Given the description of an element on the screen output the (x, y) to click on. 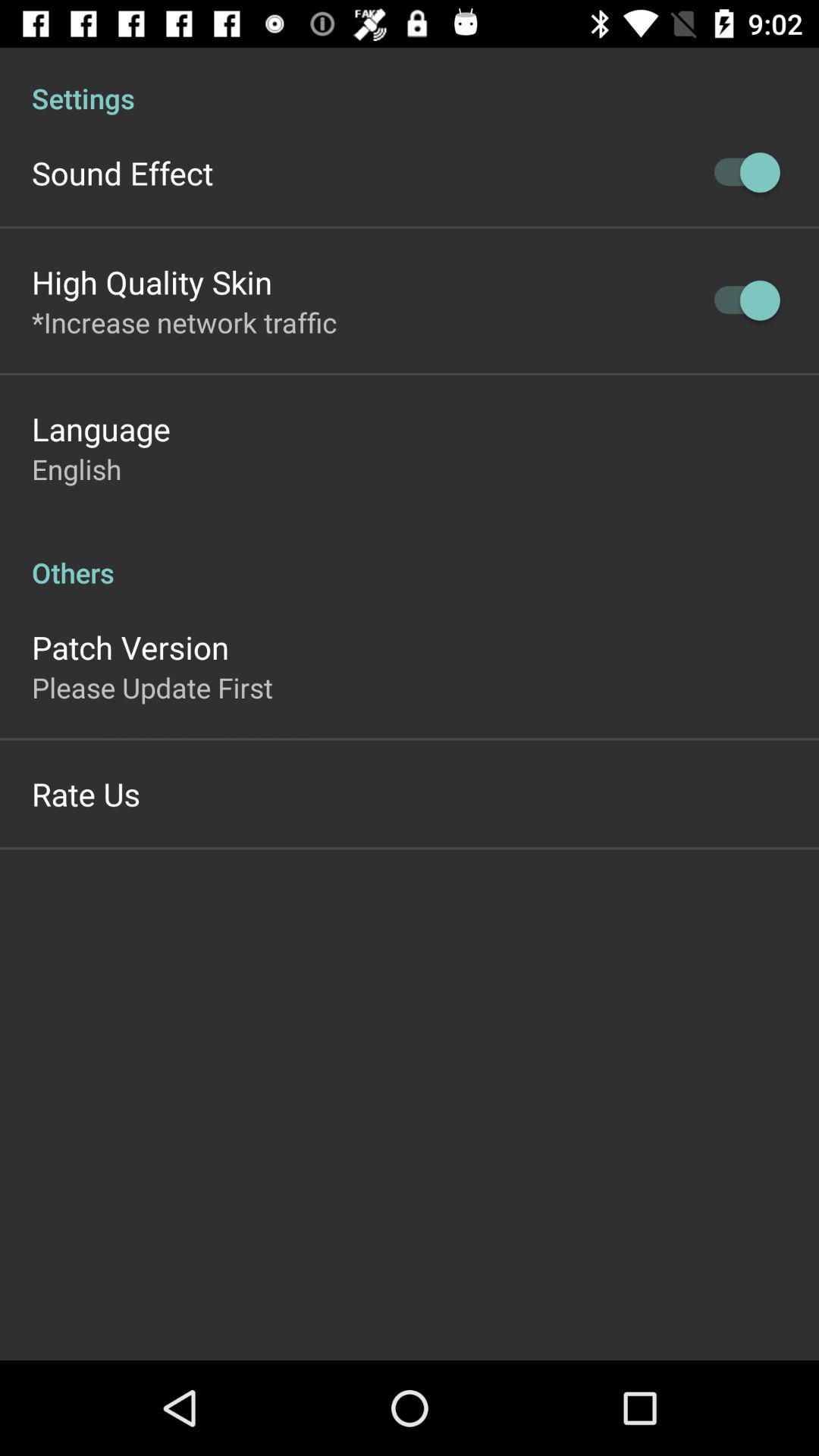
launch the app below patch version item (152, 687)
